Given the description of an element on the screen output the (x, y) to click on. 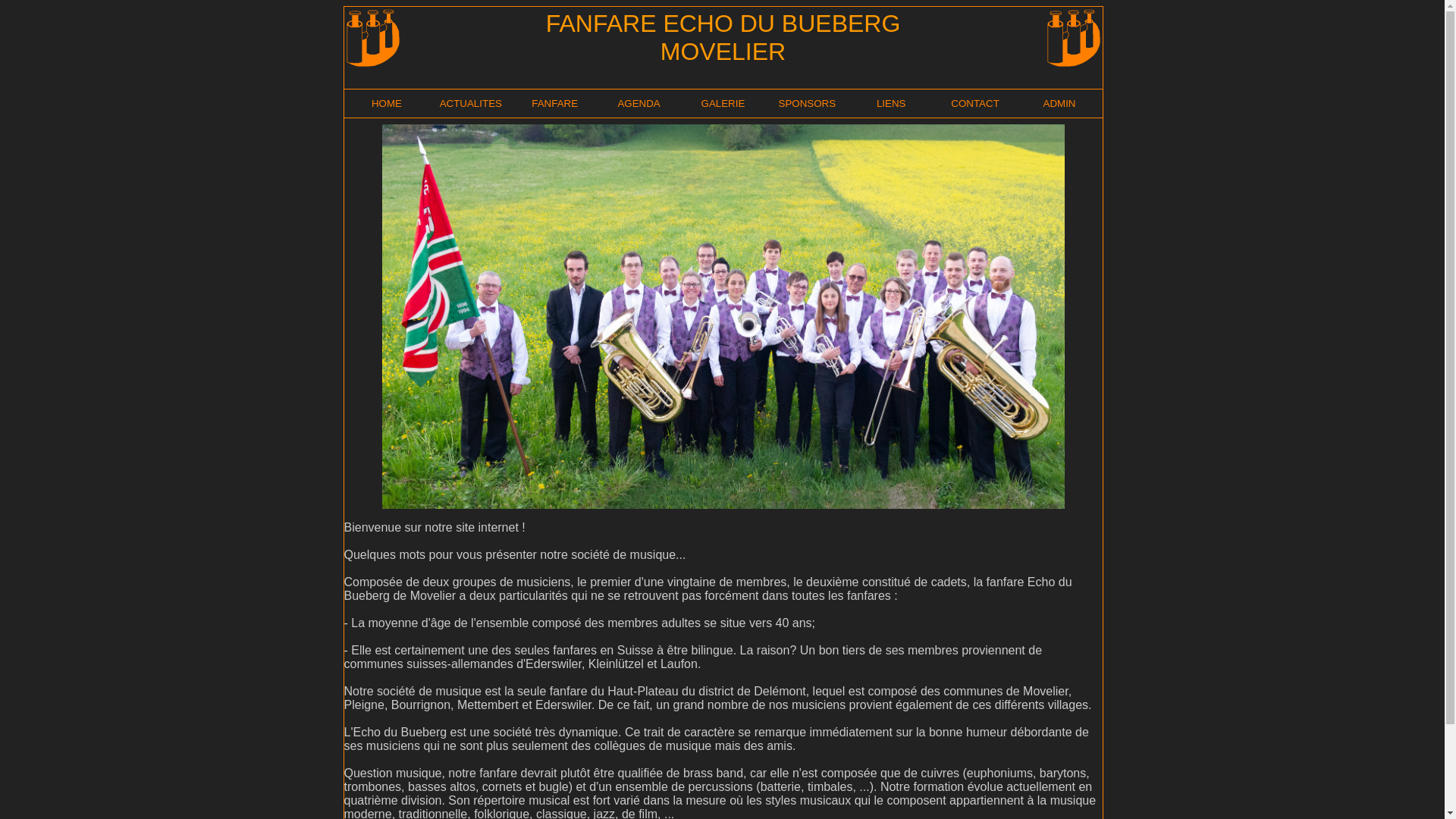
ACTUALITES Element type: text (470, 103)
HOME Element type: text (386, 103)
CONTACT Element type: text (974, 103)
ADMIN Element type: text (1059, 103)
FANFARE Element type: text (554, 103)
SPONSORS Element type: text (807, 103)
AGENDA Element type: text (638, 103)
GALERIE Element type: text (723, 103)
LIENS Element type: text (891, 103)
